Given the description of an element on the screen output the (x, y) to click on. 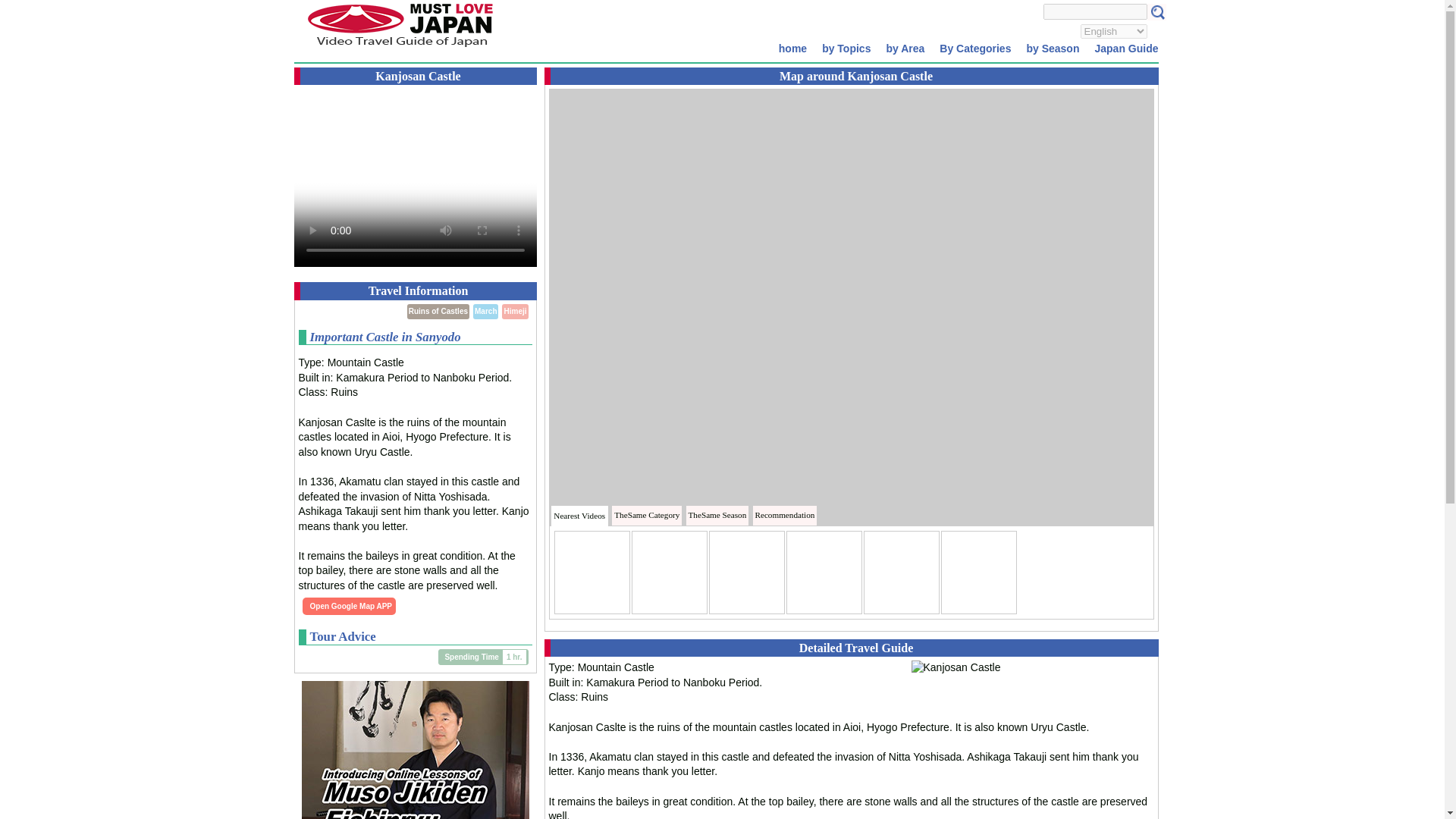
by Area (904, 48)
by Topics (845, 48)
MustLoveJapan (399, 49)
home (792, 48)
Search (1156, 12)
